Given the description of an element on the screen output the (x, y) to click on. 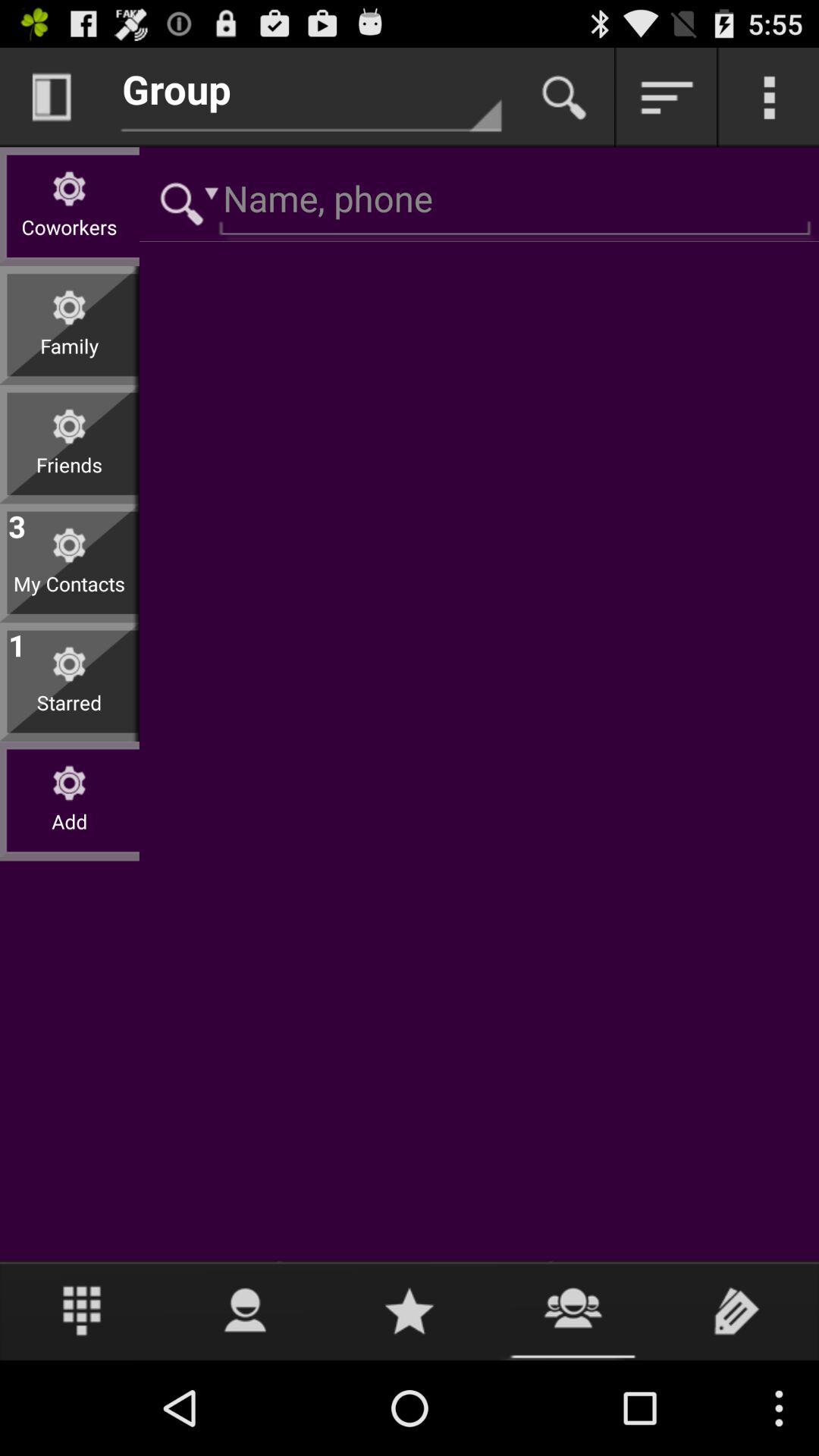
search name or phone (479, 201)
